Given the description of an element on the screen output the (x, y) to click on. 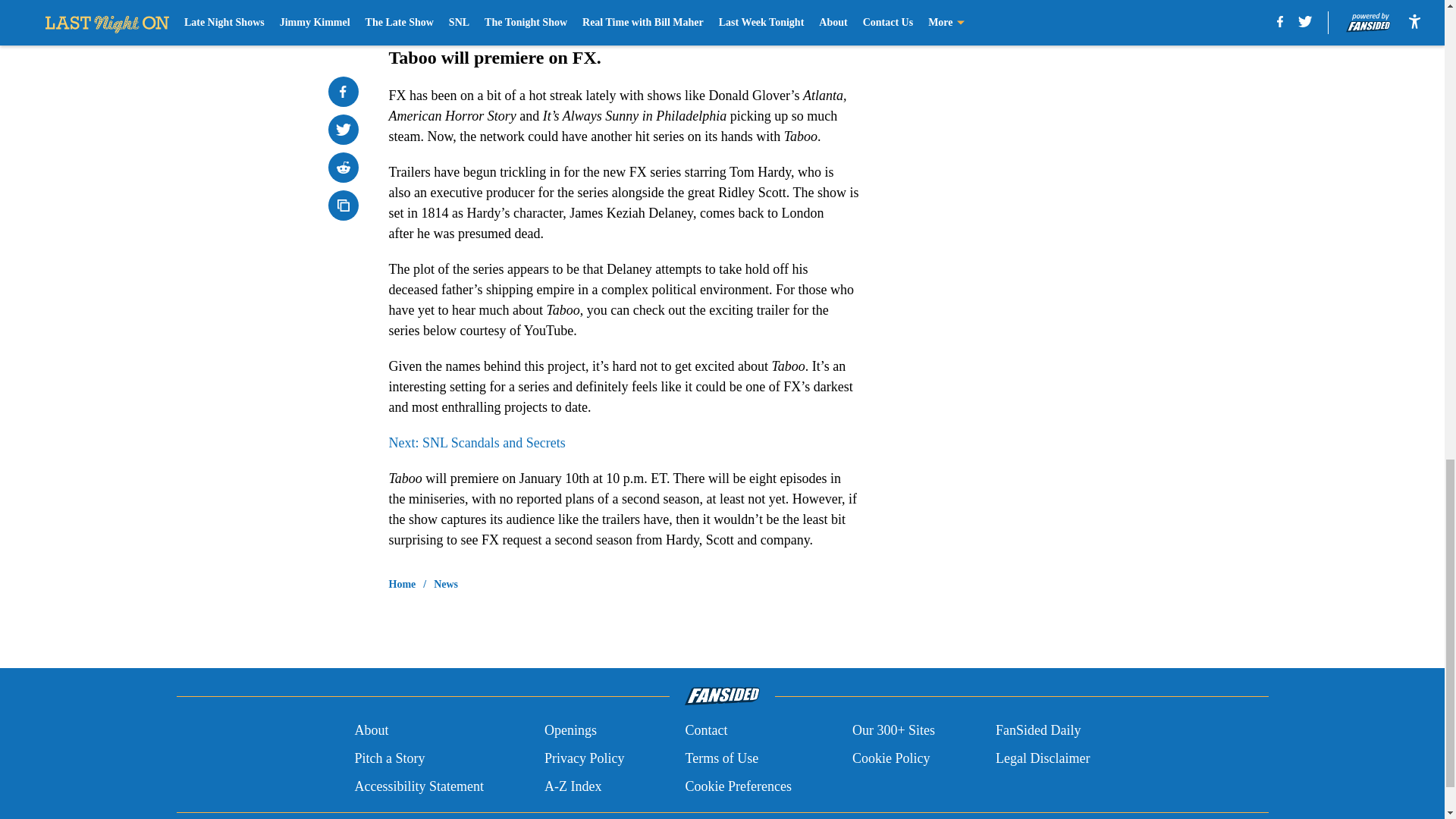
Cookie Preferences (737, 786)
Contact (705, 730)
A-Z Index (572, 786)
Pitch a Story (389, 758)
News (445, 584)
Next: SNL Scandals and Secrets (476, 442)
FanSided Daily (1038, 730)
Privacy Policy (584, 758)
About (370, 730)
Openings (570, 730)
